Given the description of an element on the screen output the (x, y) to click on. 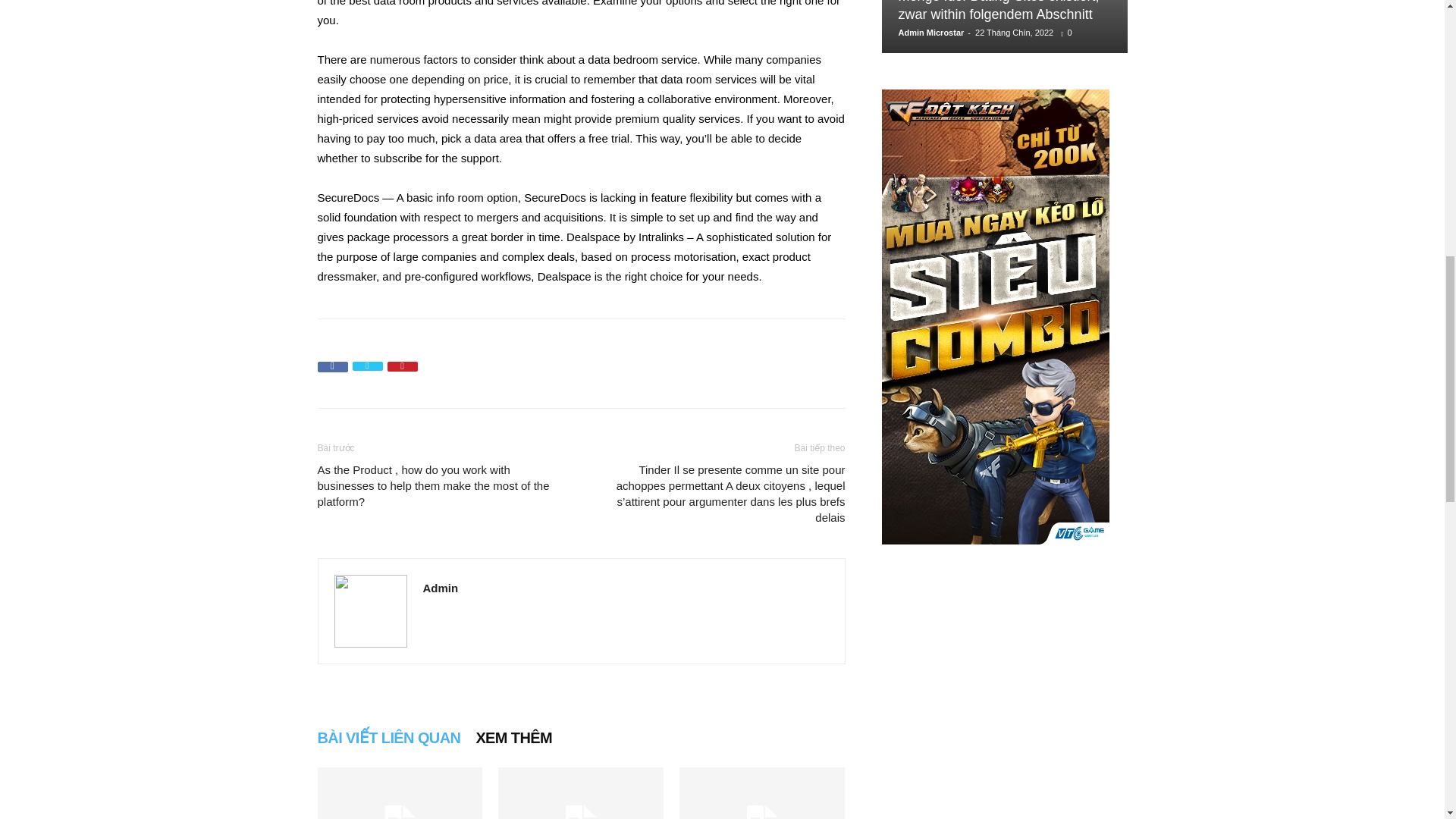
Admin (440, 587)
How to Write Essays (399, 793)
6 Ways To Make Science Enjoyable For Kids (580, 793)
